Given the description of an element on the screen output the (x, y) to click on. 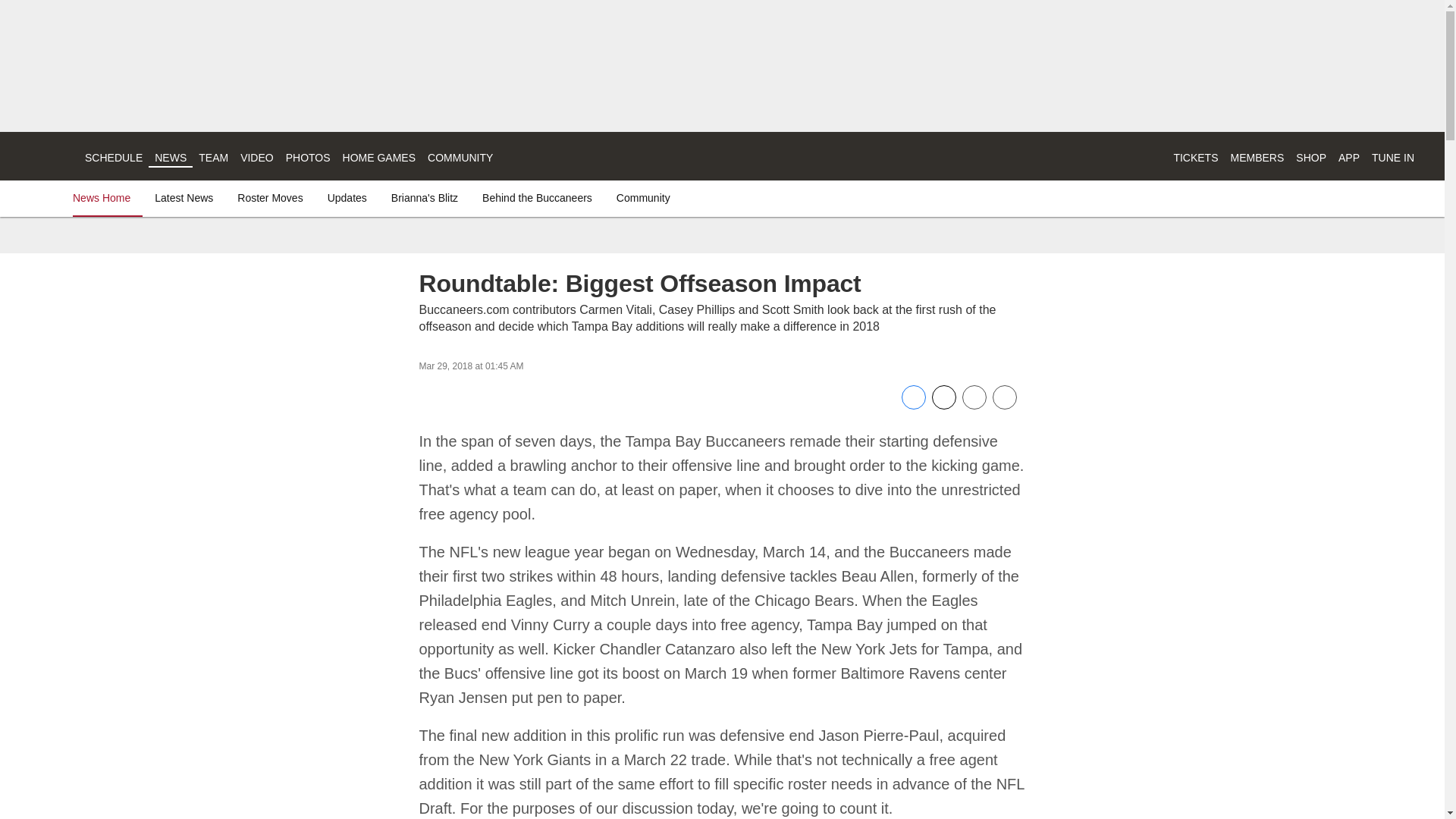
HOME GAMES (378, 157)
TICKETS (1195, 157)
NEWS (170, 157)
PHOTOS (307, 157)
TEAM (213, 157)
NEWS (170, 157)
Link to club's homepage (42, 156)
HOME GAMES (378, 157)
Brianna's Blitz (424, 197)
TUNE IN (1392, 157)
